Given the description of an element on the screen output the (x, y) to click on. 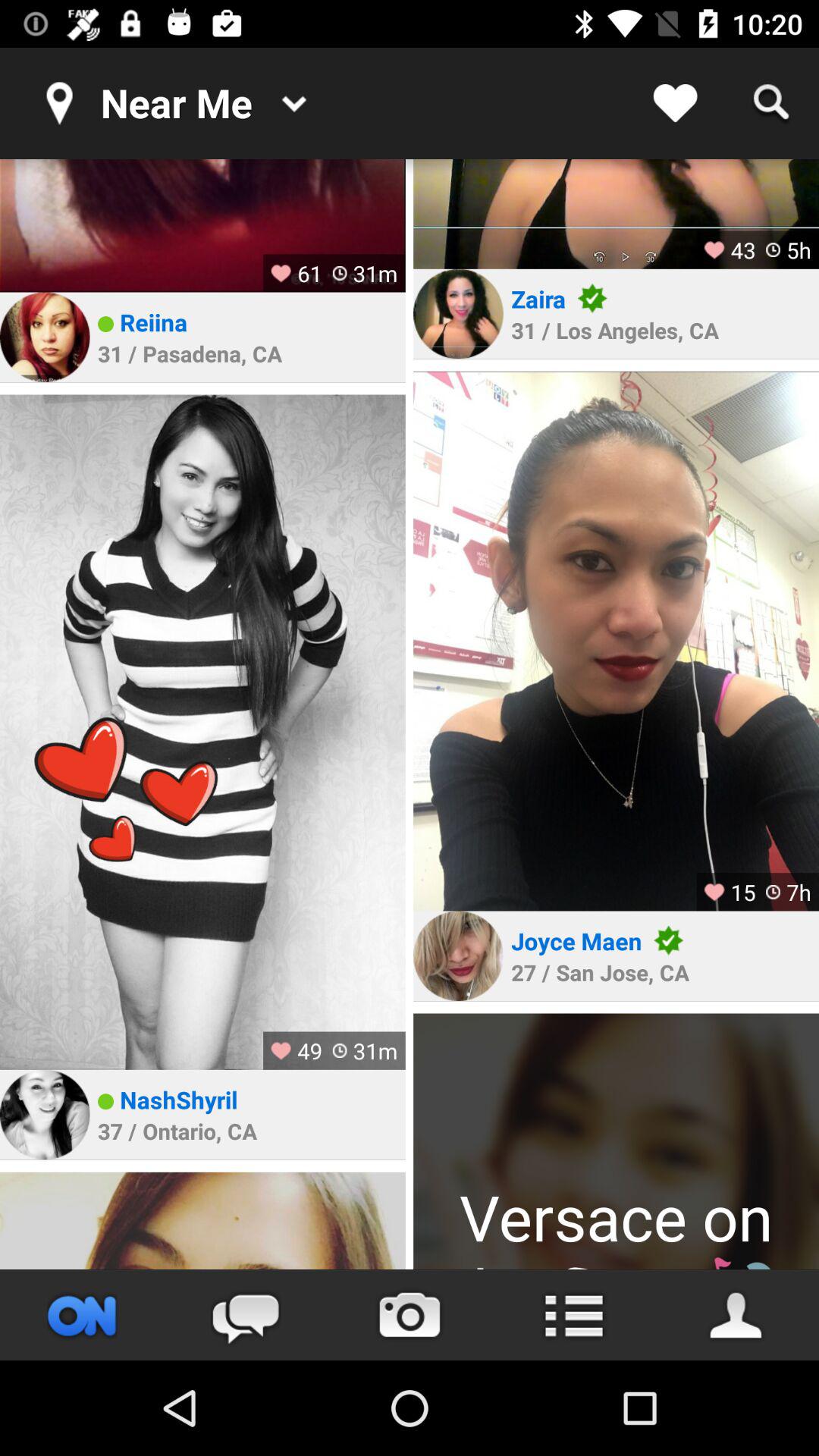
profile image (616, 1141)
